Given the description of an element on the screen output the (x, y) to click on. 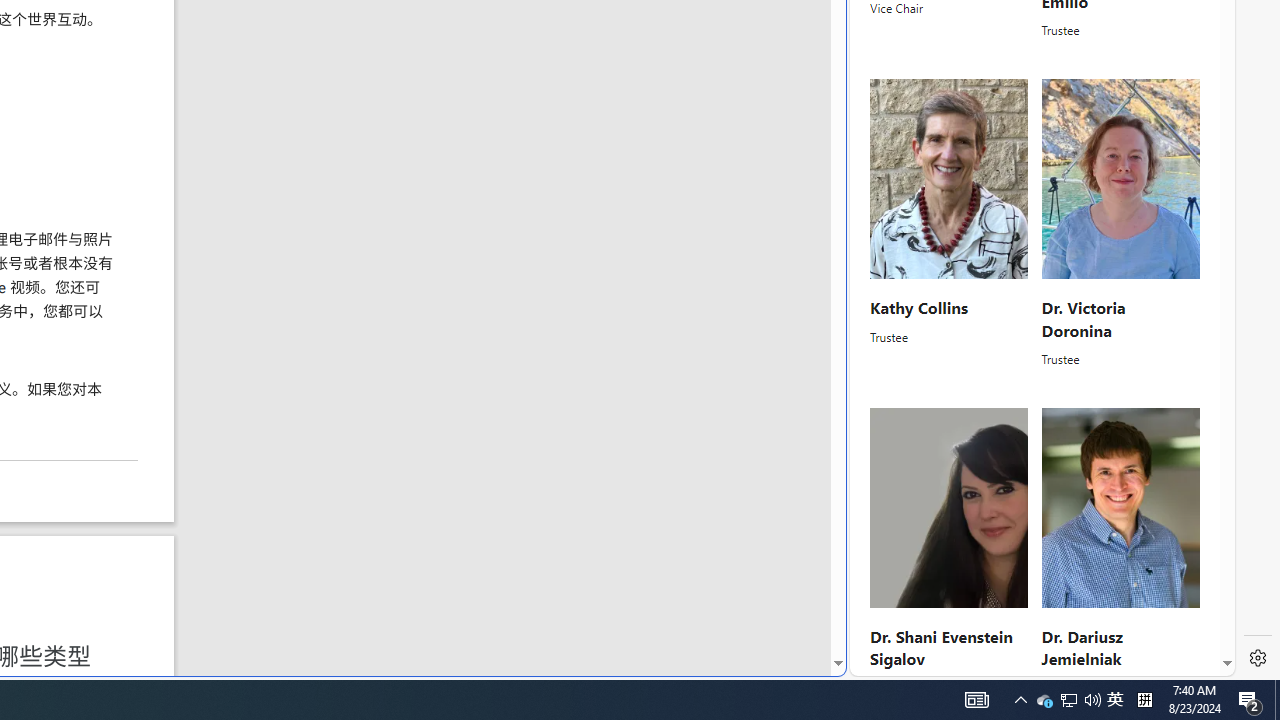
Dr. Shani Evenstein SigalovTrustee (949, 552)
Kathy CollinsTrustee (949, 223)
Dr. Victoria DoroninaTrustee (1120, 223)
Dr. Dariusz Jemielniak (1080, 647)
